Given the description of an element on the screen output the (x, y) to click on. 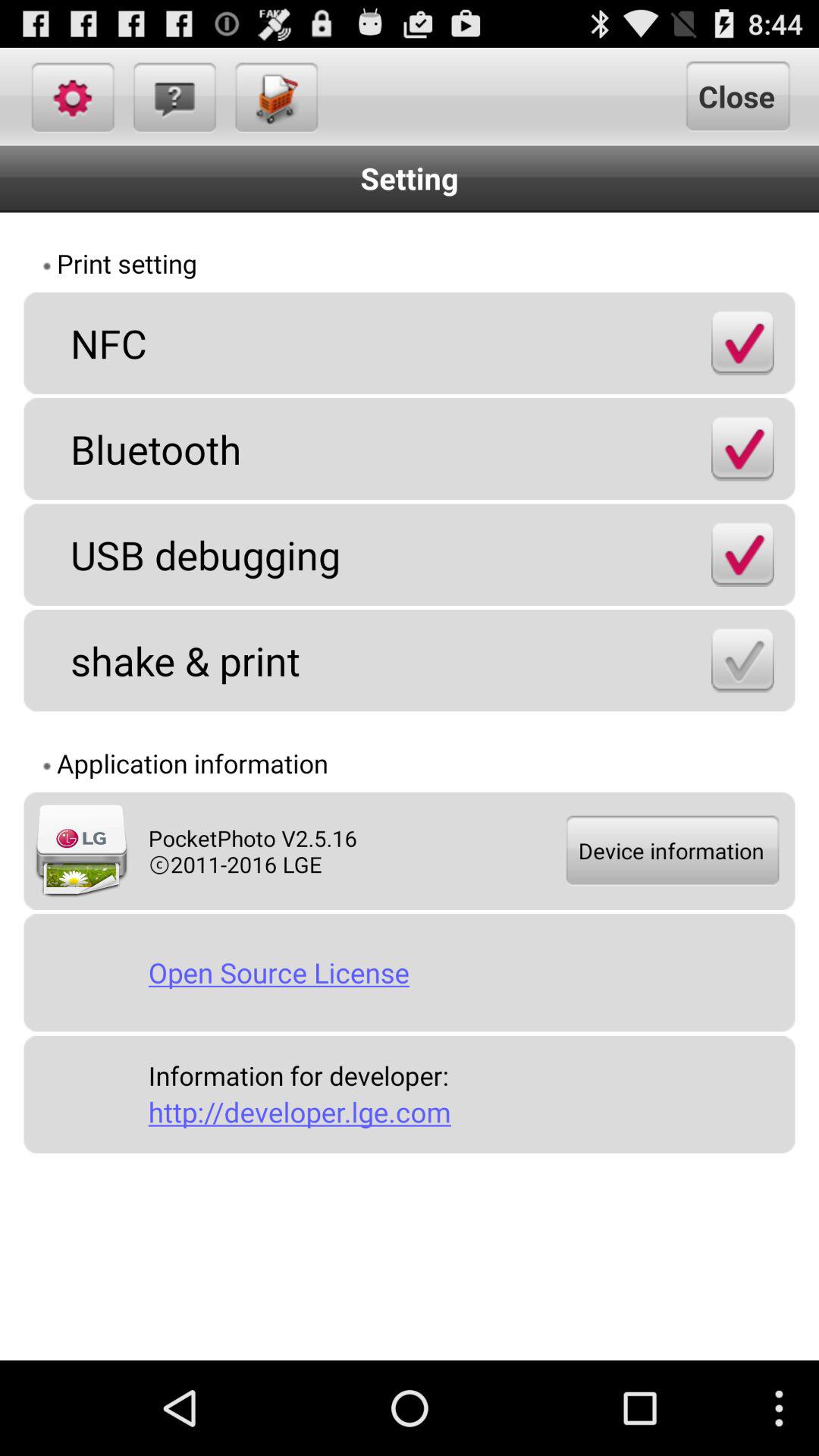
tap icon above setting (275, 96)
